Given the description of an element on the screen output the (x, y) to click on. 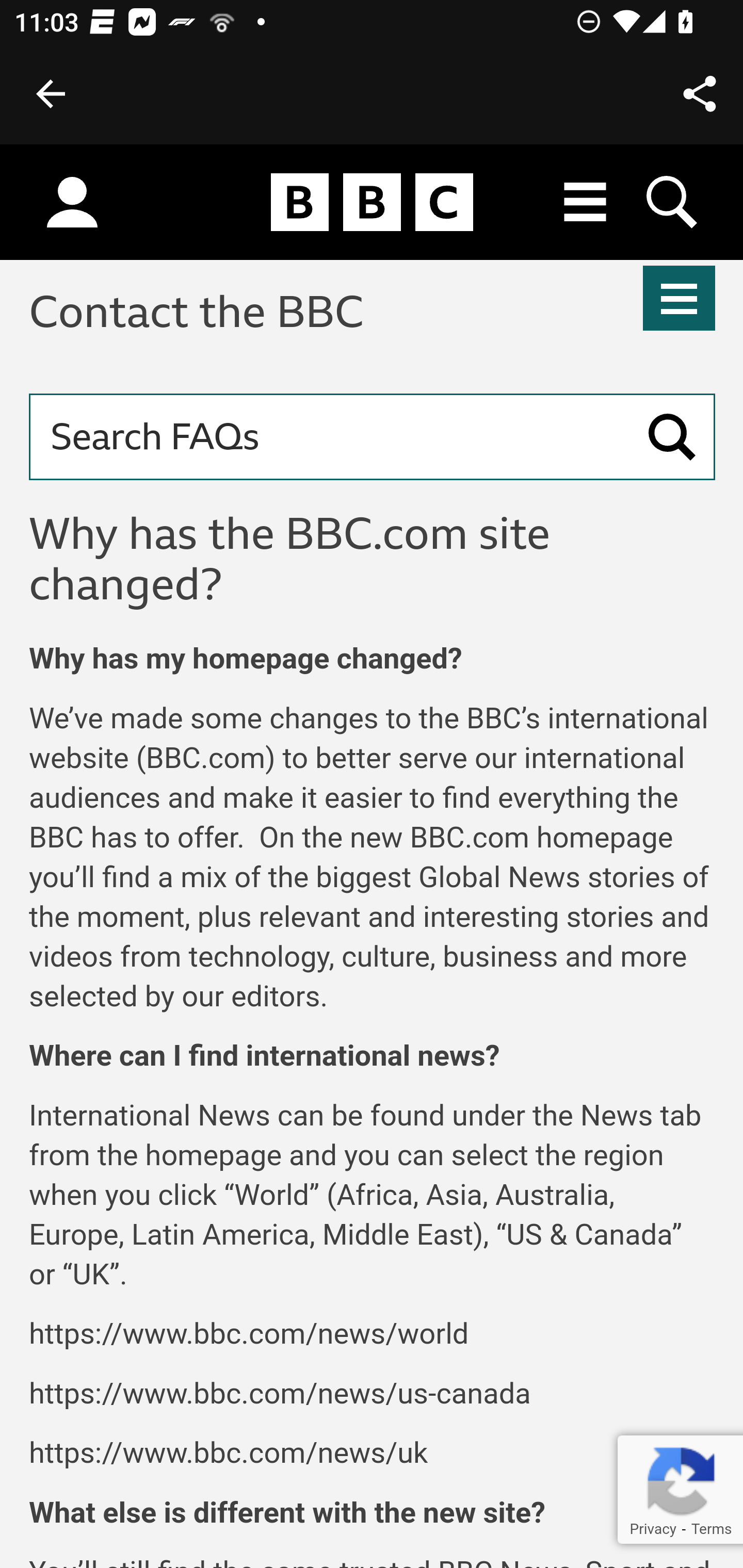
Back (50, 93)
Share (699, 93)
All BBC destinations menu (585, 202)
Search BBC (672, 202)
Sign in (71, 203)
Homepage (371, 203)
Navigation (679, 297)
Search (671, 436)
Privacy (652, 1528)
Terms (711, 1528)
